Given the description of an element on the screen output the (x, y) to click on. 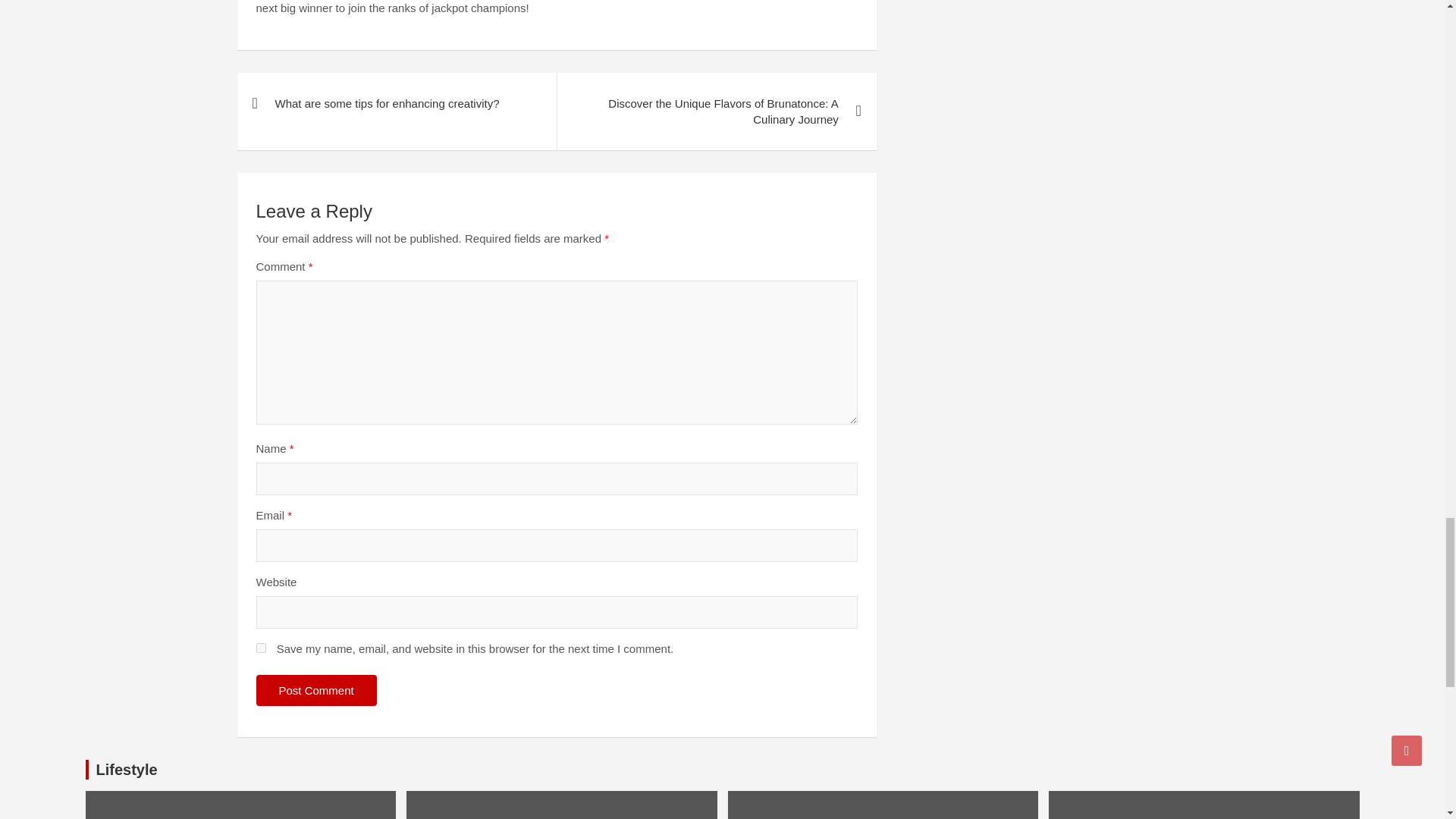
Post Comment (316, 689)
Post Comment (316, 689)
What are some tips for enhancing creativity? (395, 103)
yes (261, 647)
